Given the description of an element on the screen output the (x, y) to click on. 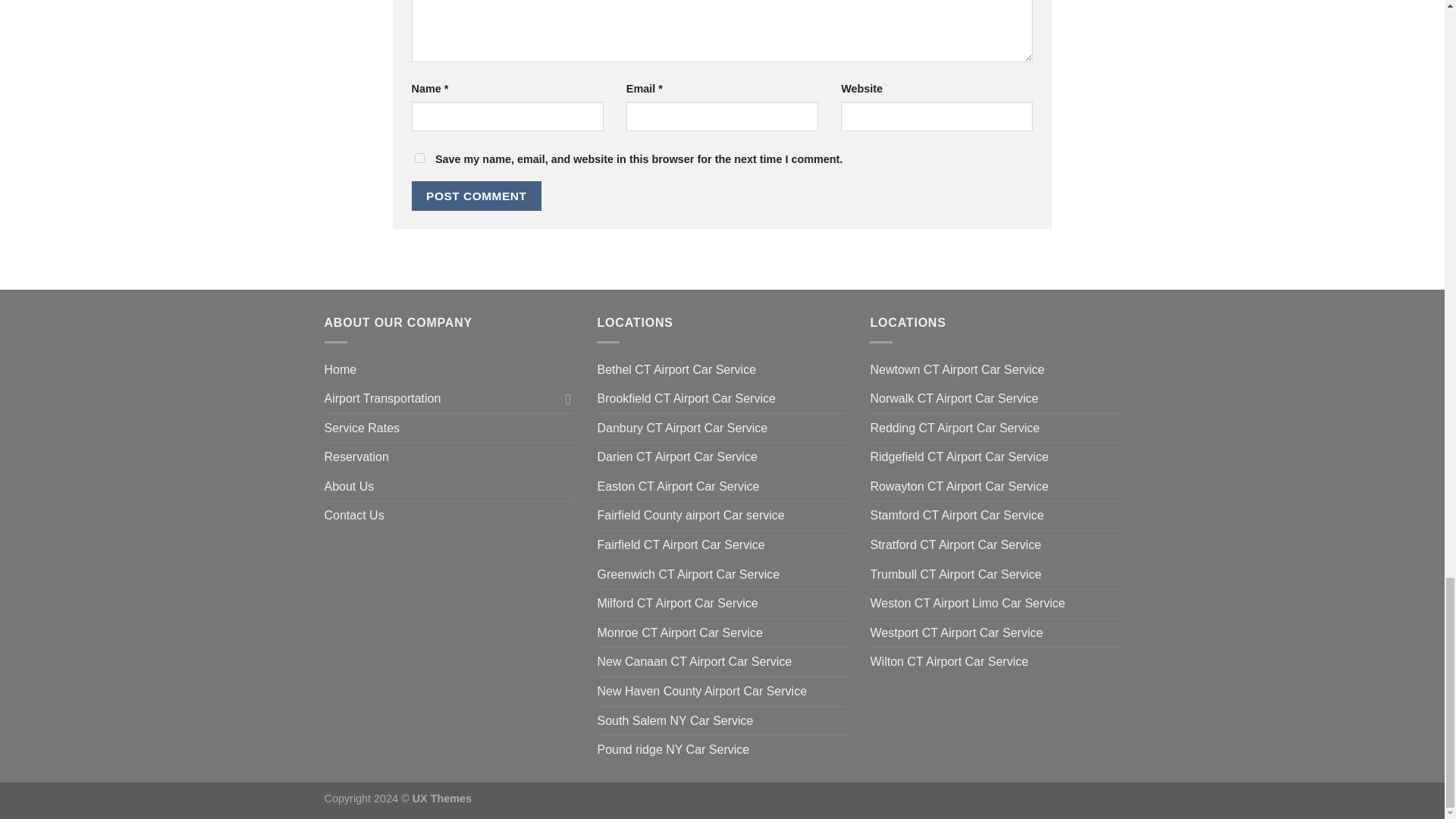
yes (418, 157)
Post Comment (475, 195)
Post Comment (475, 195)
Home (340, 369)
